Given the description of an element on the screen output the (x, y) to click on. 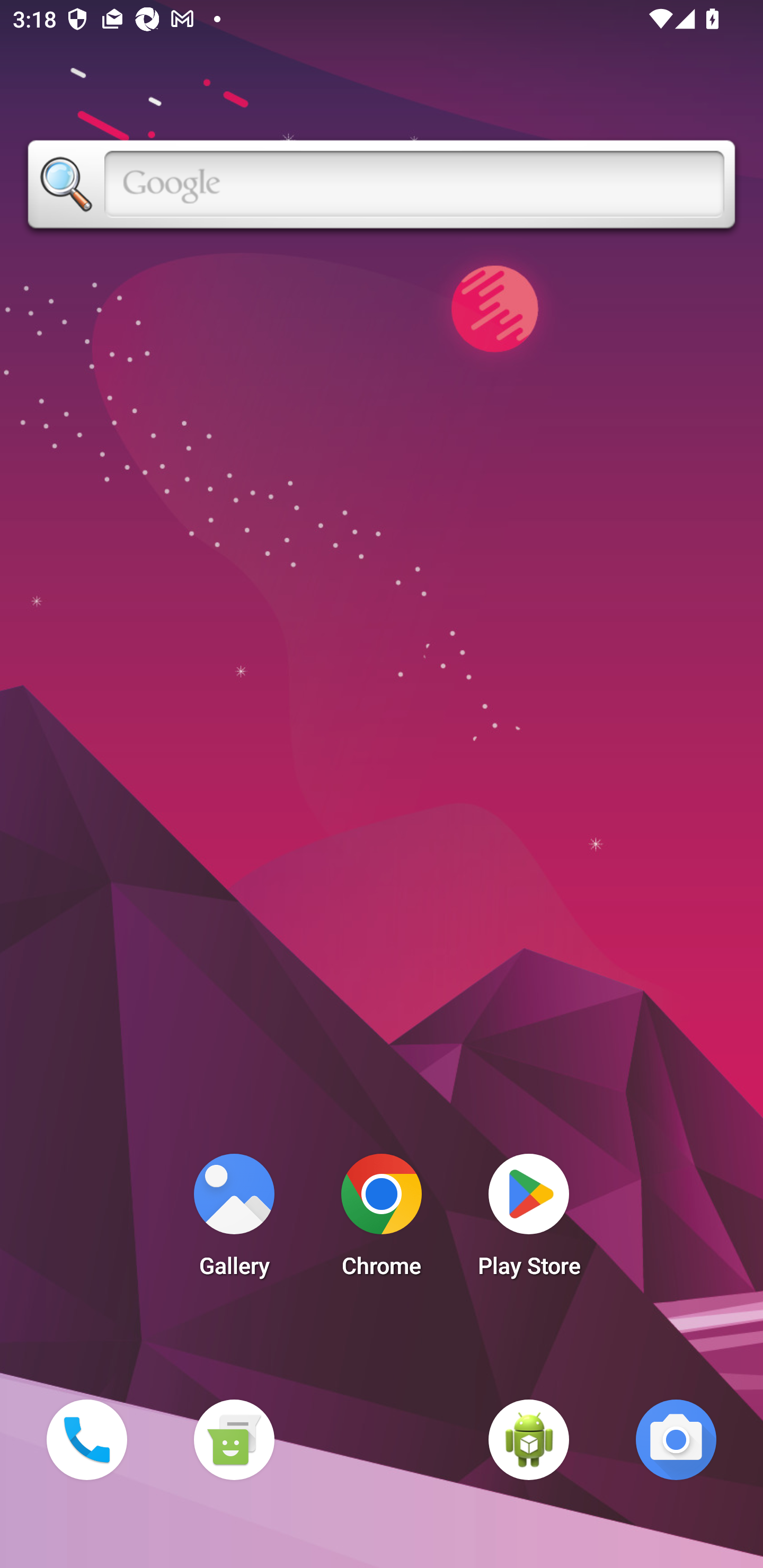
Gallery (233, 1220)
Chrome (381, 1220)
Play Store (528, 1220)
Phone (86, 1439)
Messaging (233, 1439)
WebView Browser Tester (528, 1439)
Camera (676, 1439)
